Given the description of an element on the screen output the (x, y) to click on. 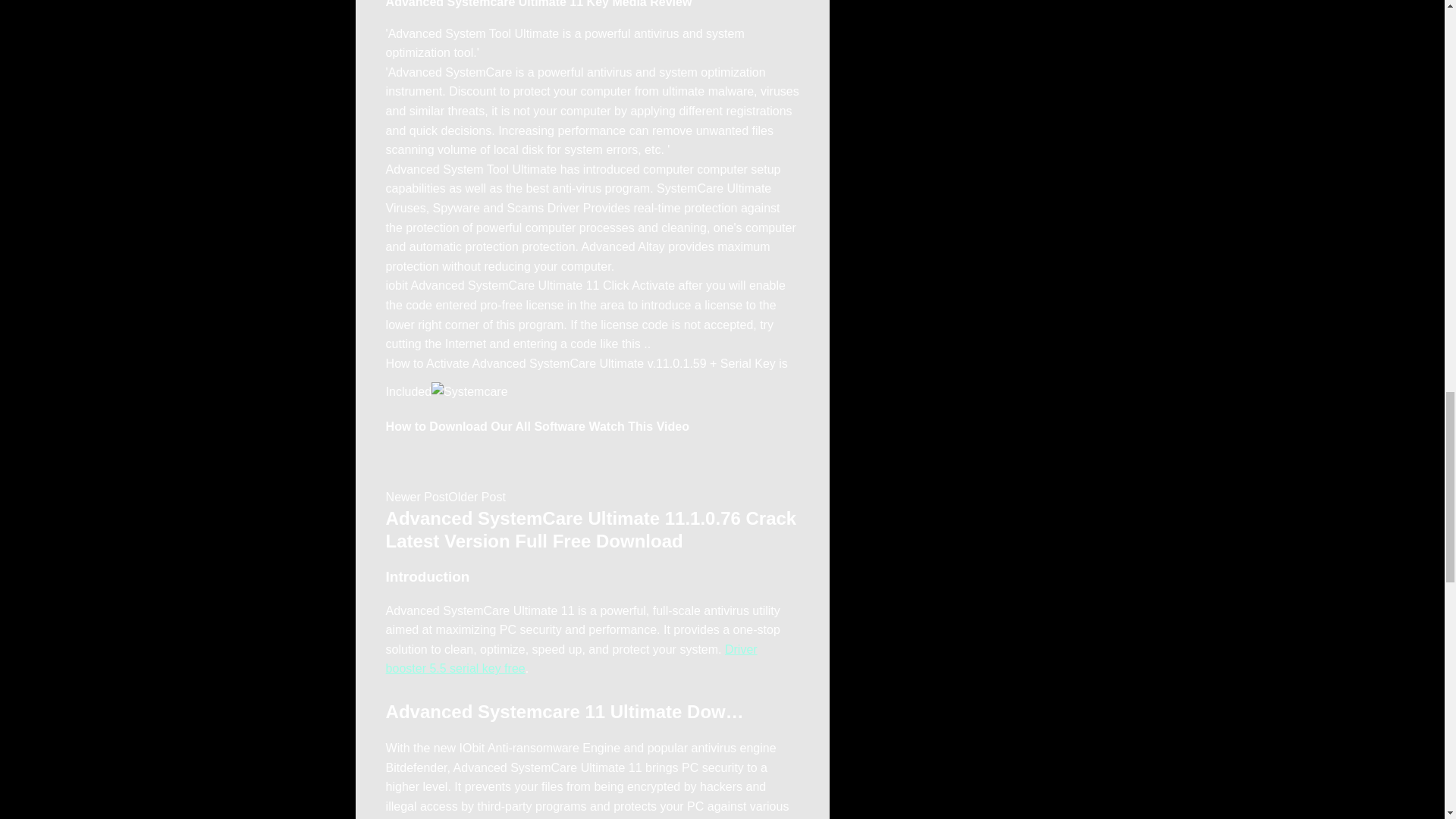
Driver booster 5.5 serial key free (571, 658)
Systemcare (468, 392)
Driver booster 5.5 serial key free (571, 658)
